Given the description of an element on the screen output the (x, y) to click on. 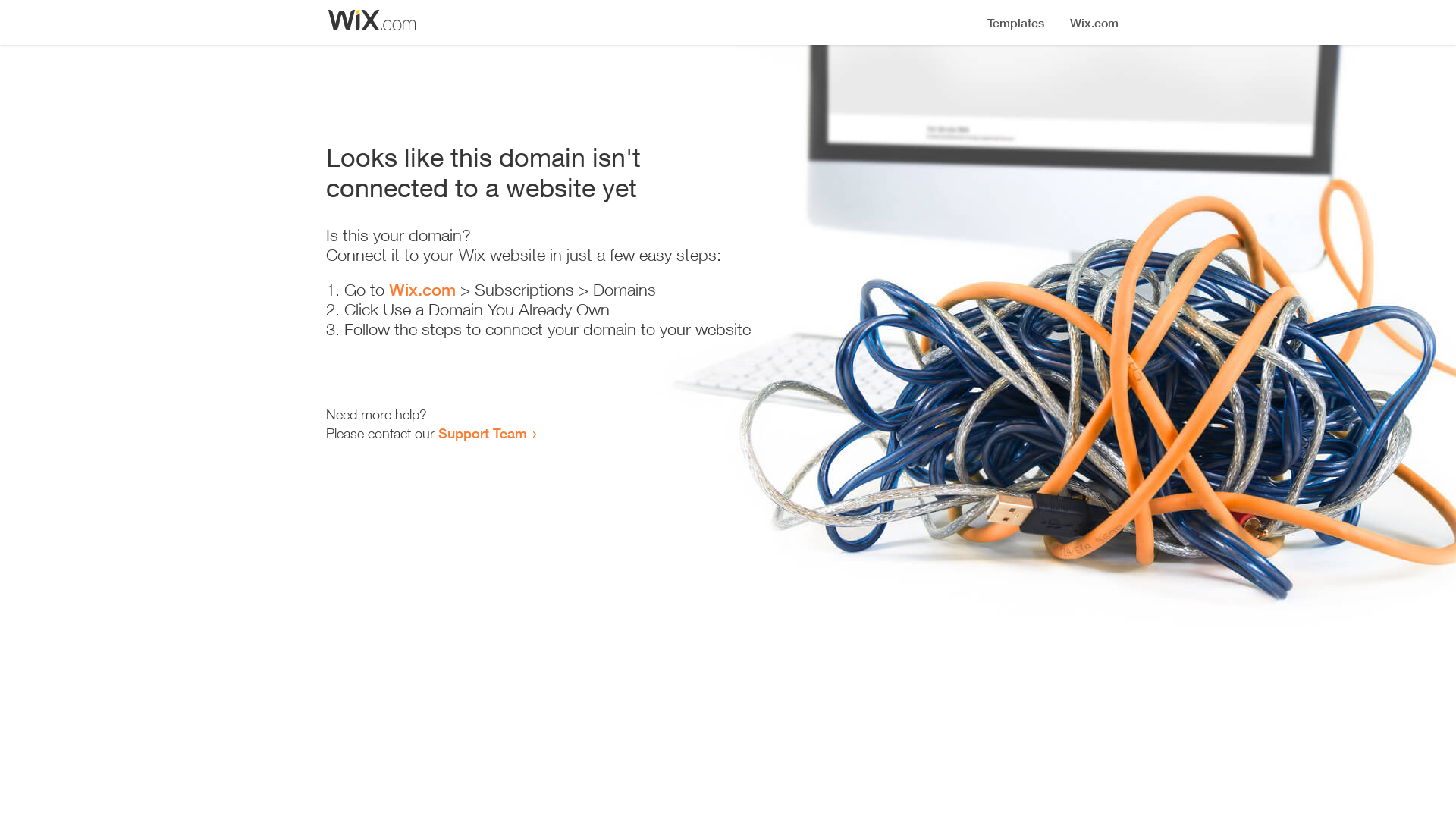
Wix.com Element type: text (422, 289)
Support Team Element type: text (482, 432)
